Given the description of an element on the screen output the (x, y) to click on. 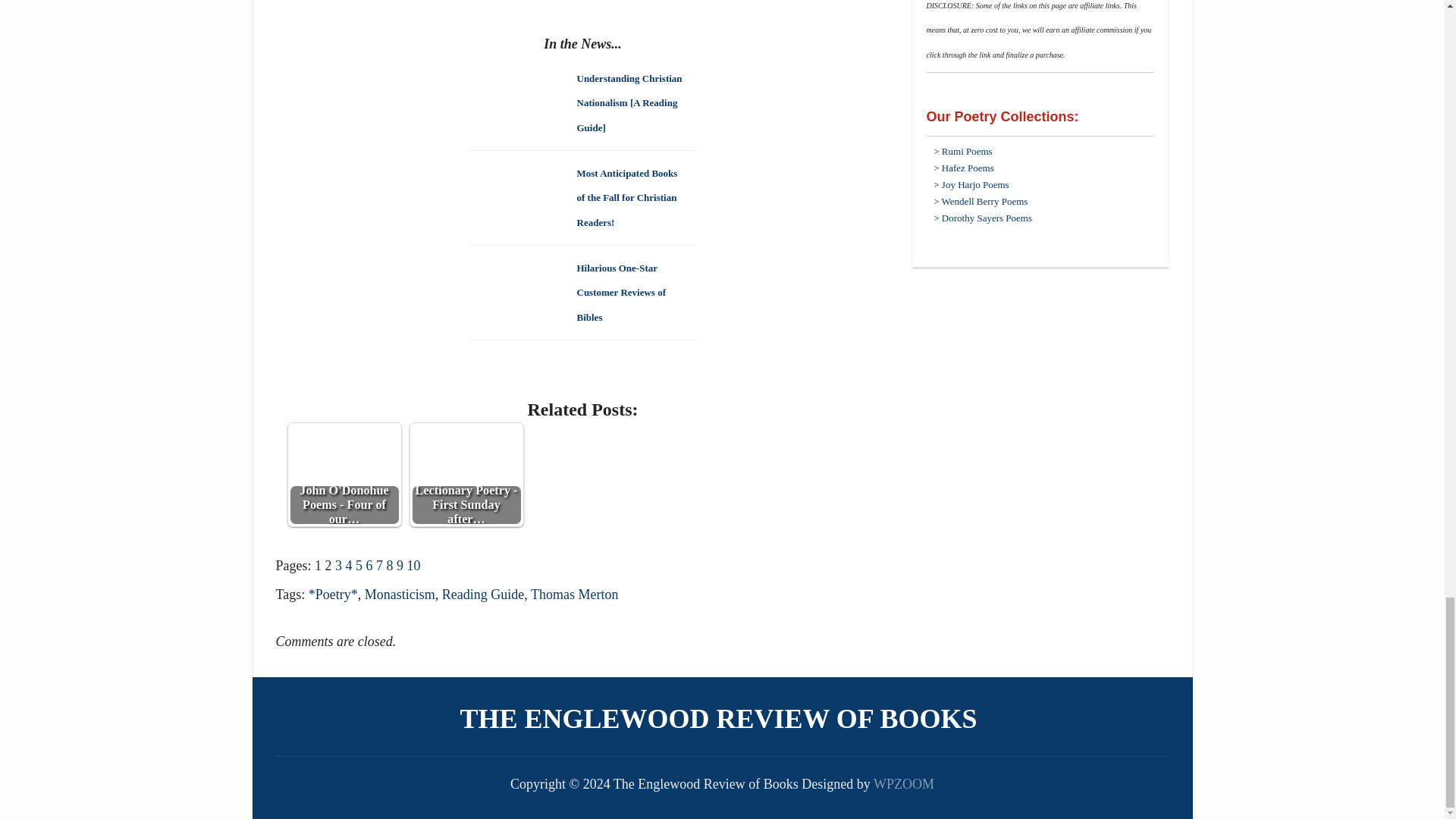
John O'Donohue Poems - Four of our Favorites (344, 450)
Hilarious One-Star Customer Reviews of Bibles (620, 291)
Most Anticipated Books of the Fall for Christian Readers! (626, 196)
10 (413, 565)
